Given the description of an element on the screen output the (x, y) to click on. 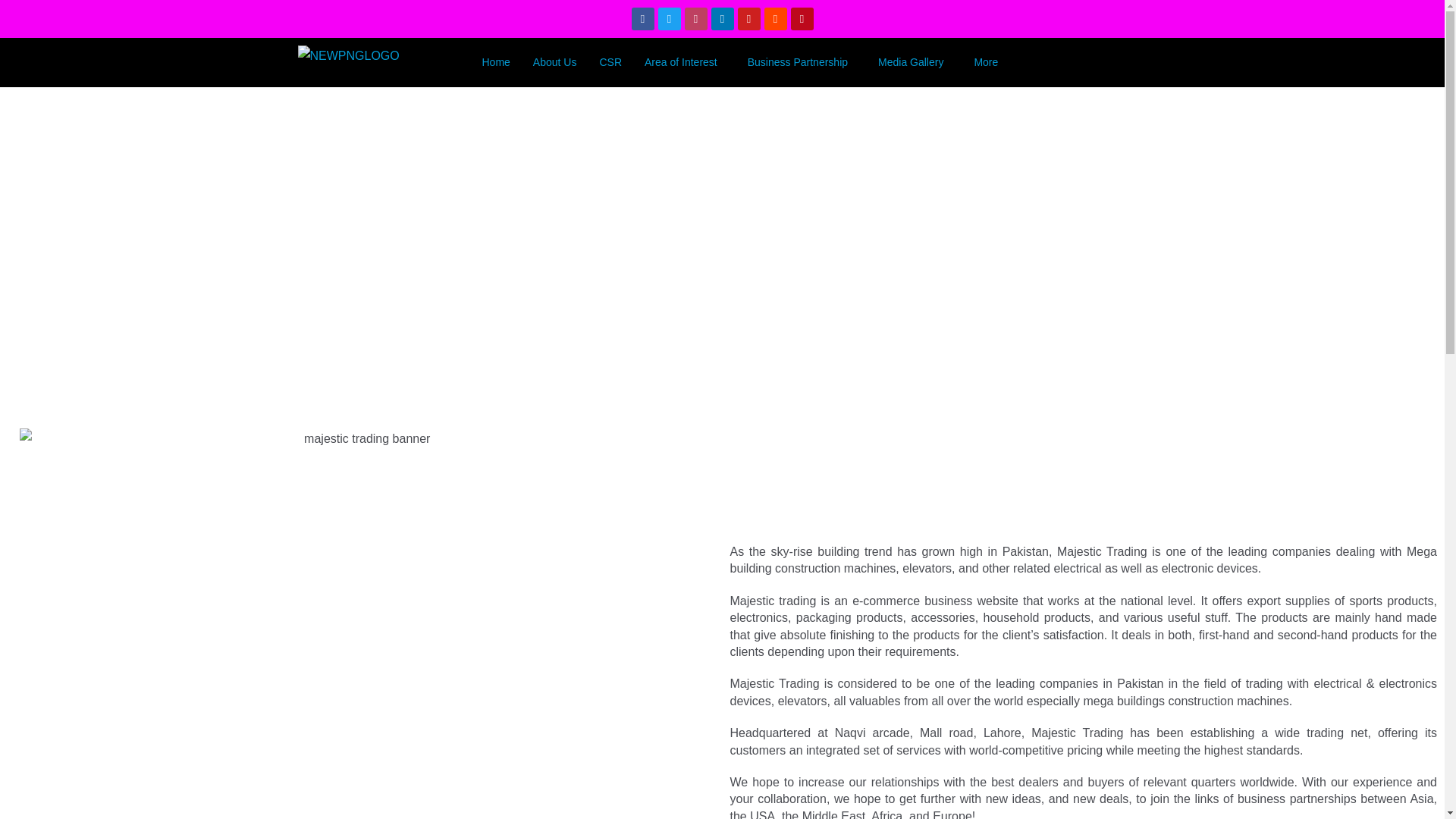
Area of Interest (684, 61)
Home (495, 61)
CSR (610, 61)
About Us (554, 61)
